Given the description of an element on the screen output the (x, y) to click on. 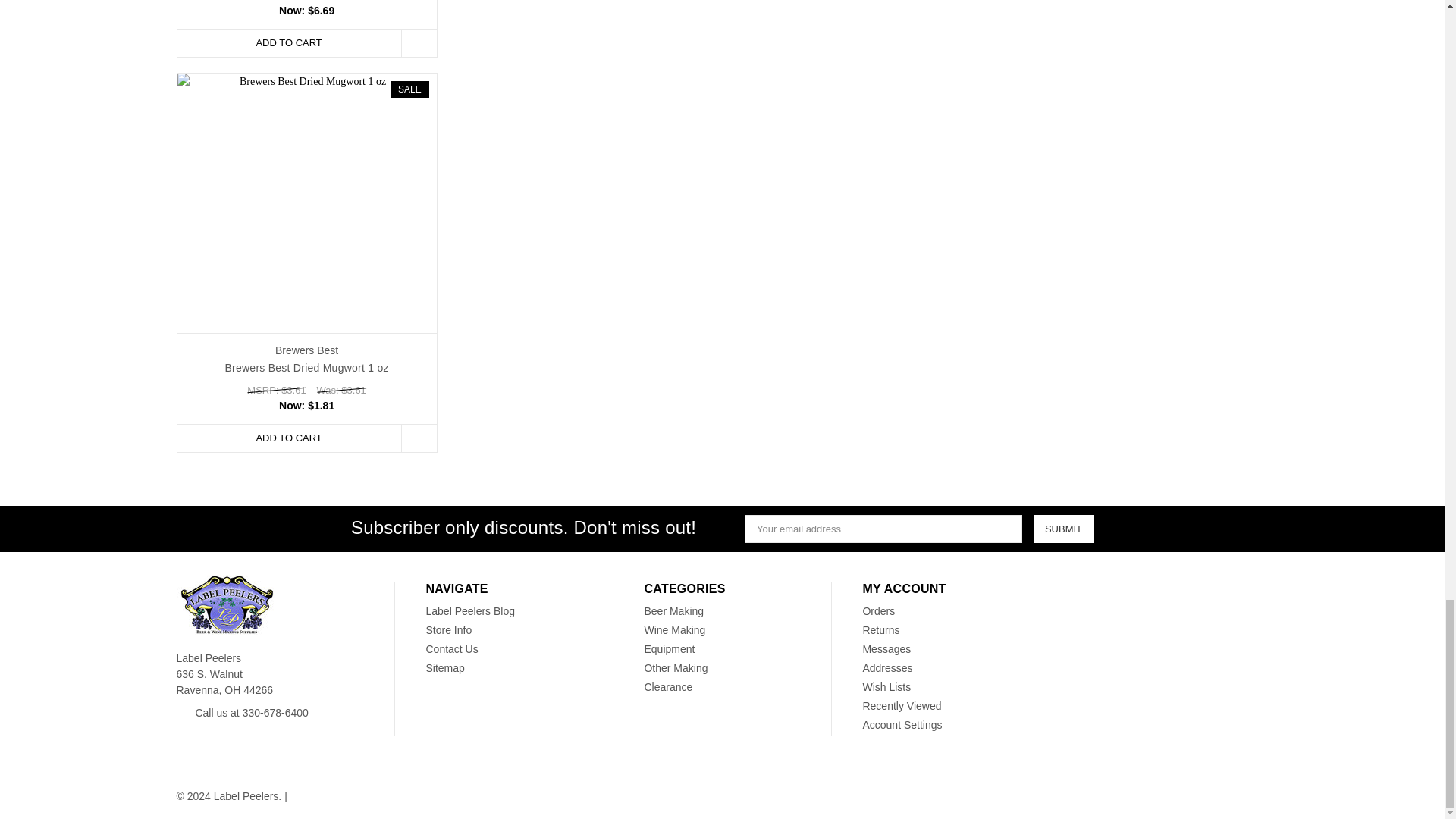
Label Peelers (226, 604)
Brewers Best Dried Mugwort 1 oz (306, 202)
Submit (1063, 528)
